Given the description of an element on the screen output the (x, y) to click on. 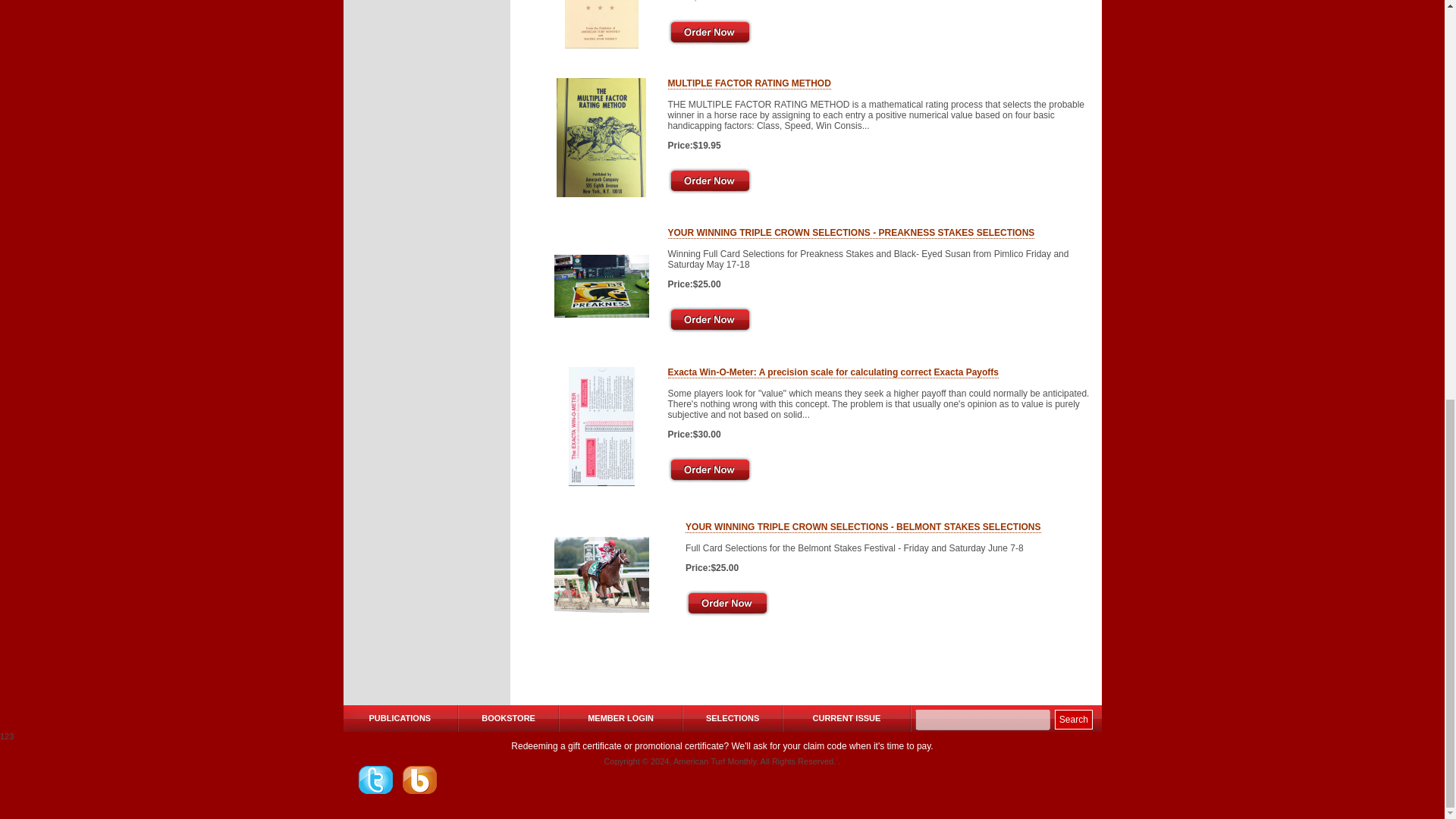
search our bookstore (982, 719)
MULTIPLE FACTOR RATING METHOD (747, 83)
Search (1073, 719)
Search (1073, 719)
